Given the description of an element on the screen output the (x, y) to click on. 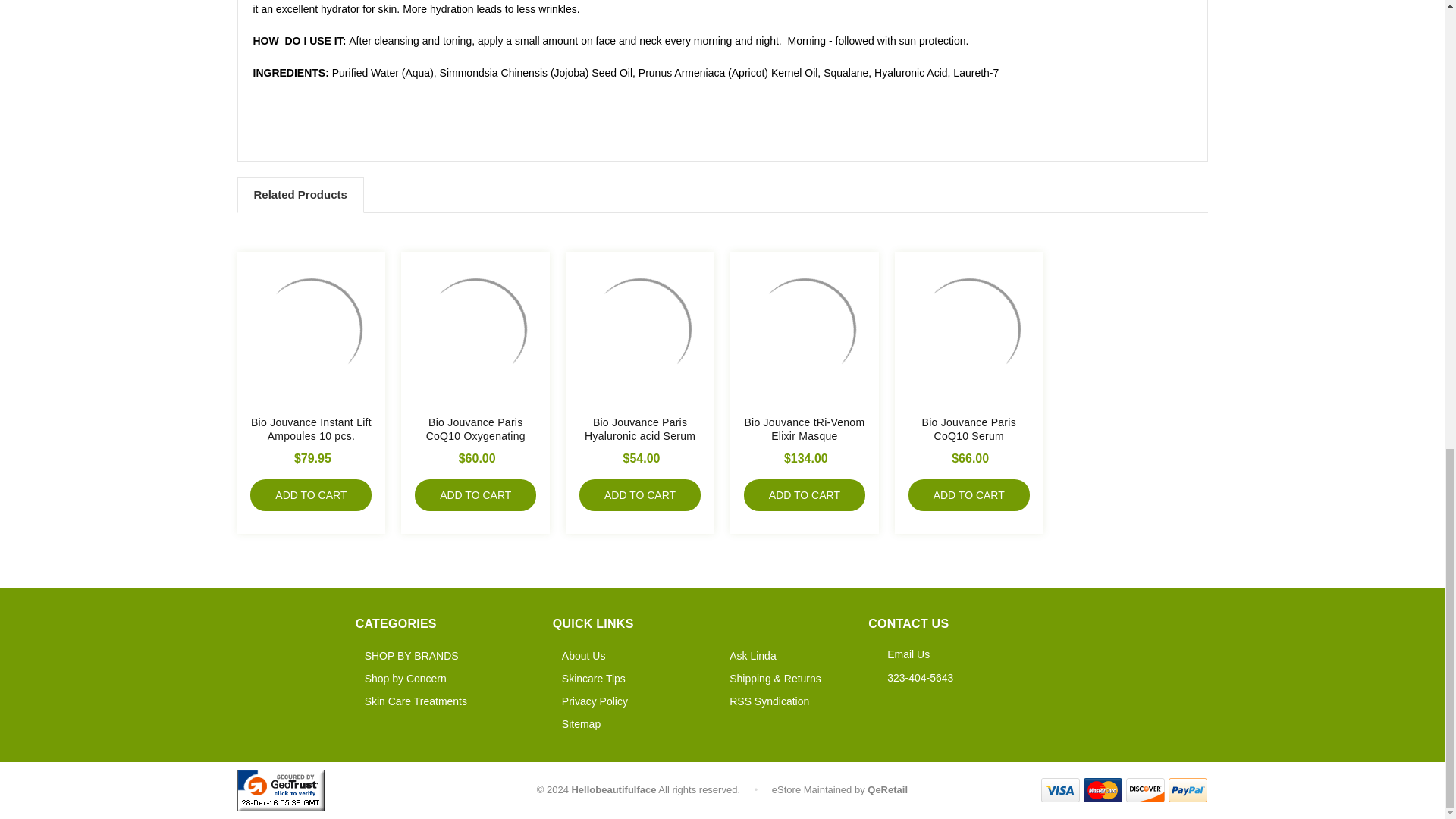
Bio Jouvance Paris CoQ10 Serum (968, 329)
323-404-5643 (919, 677)
Email  (908, 654)
Bio Jouvance Instant Lift  Ampoules 10 pcs. (311, 329)
Bio Jouvance tRi-Venom Elixir Masque (804, 329)
Bio Jouvance Paris Hyaluronic acid Serum (639, 329)
Bio Jouvance Paris CoQ10 Oxygenating Cream (475, 329)
